Given the description of an element on the screen output the (x, y) to click on. 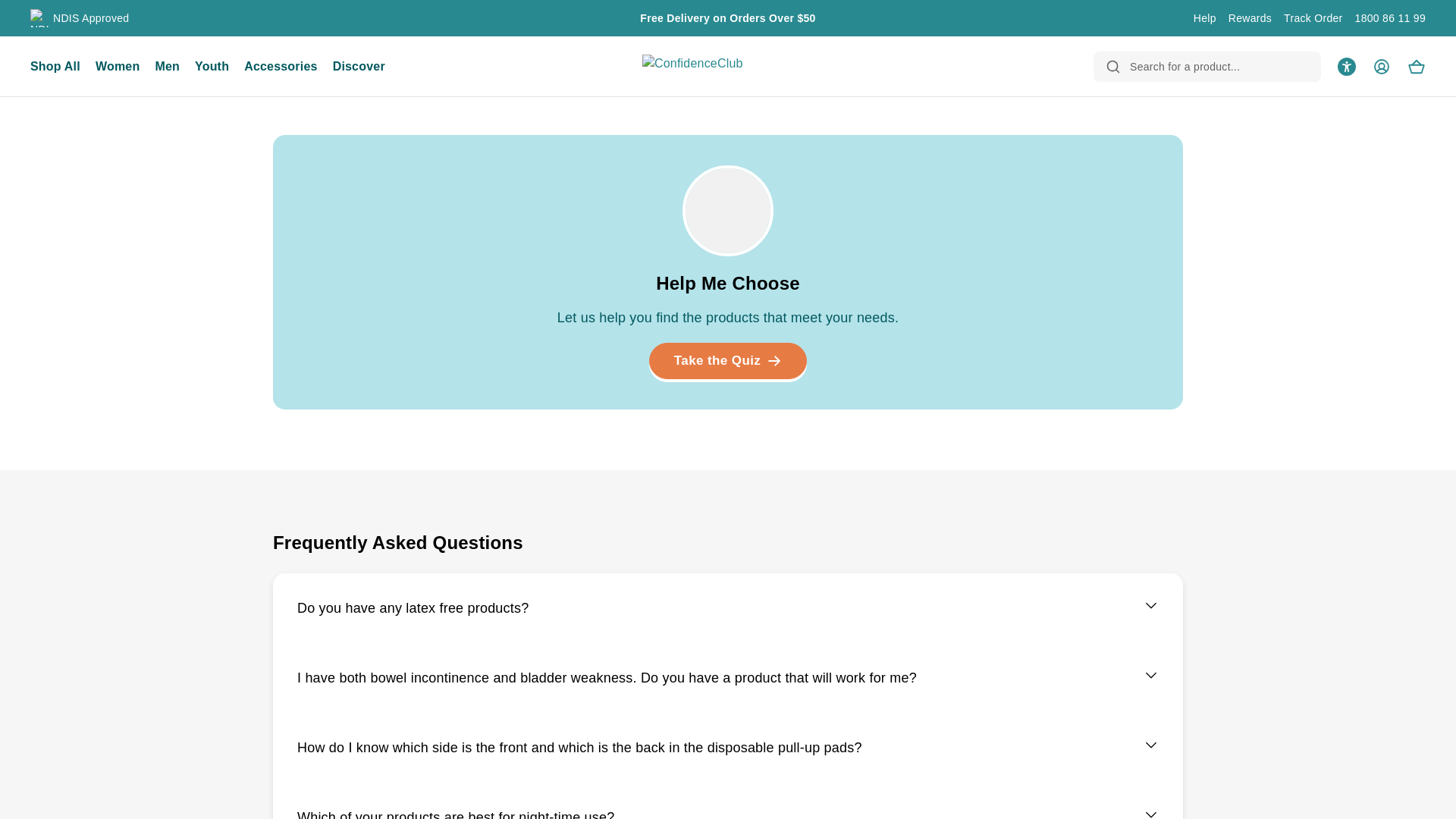
Do you have any latex free products? (727, 607)
Which of your products are best for night-time use? (727, 800)
Take the Quiz (727, 361)
